Given the description of an element on the screen output the (x, y) to click on. 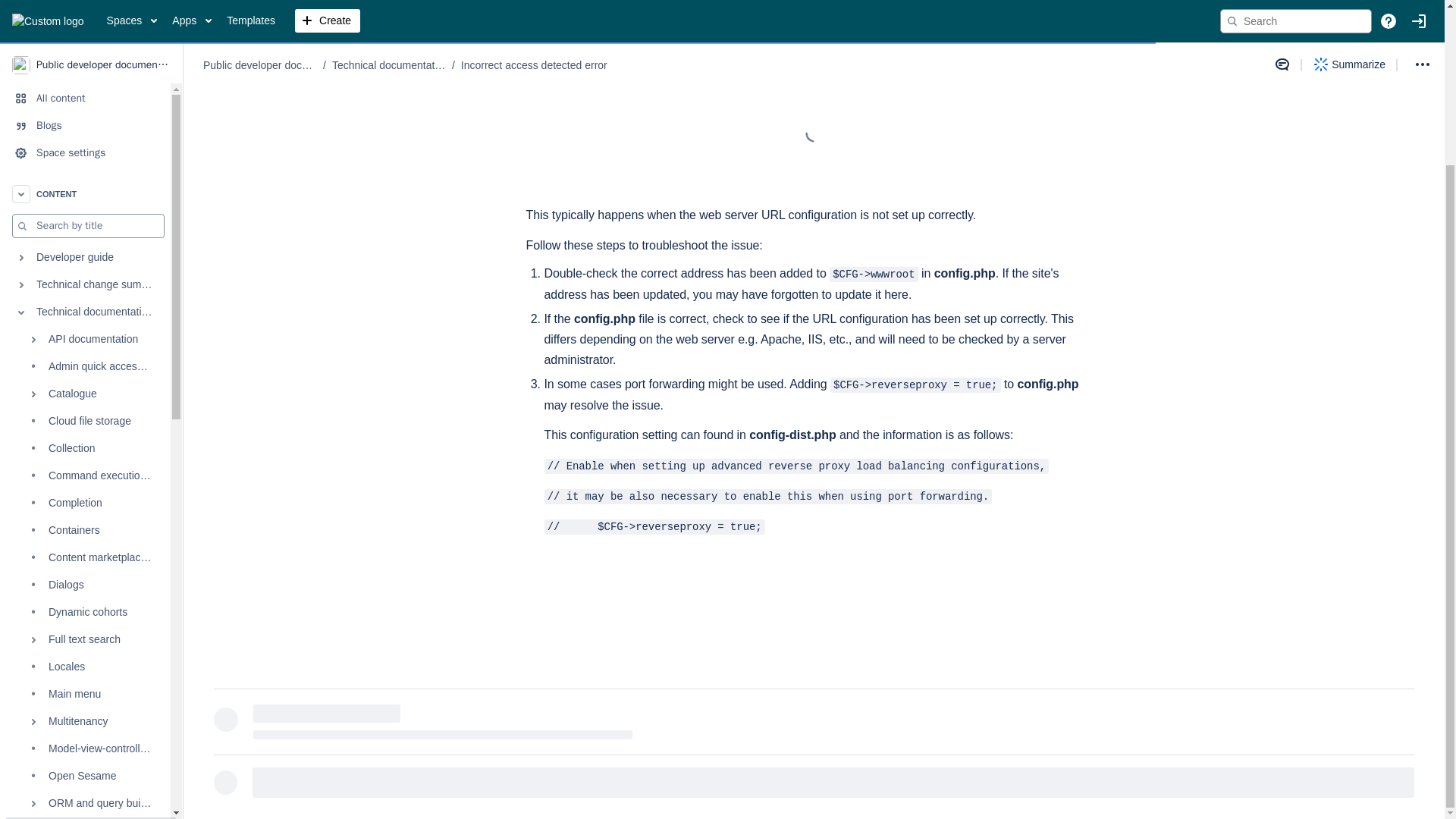
Technical change summaries (84, 88)
Technical documentation (84, 115)
CONTENT (84, 5)
Developer guide (84, 61)
Multitenancy (84, 524)
Catalogue (84, 197)
ORM and query builder (84, 606)
Full text search (84, 443)
API documentation (84, 143)
